Given the description of an element on the screen output the (x, y) to click on. 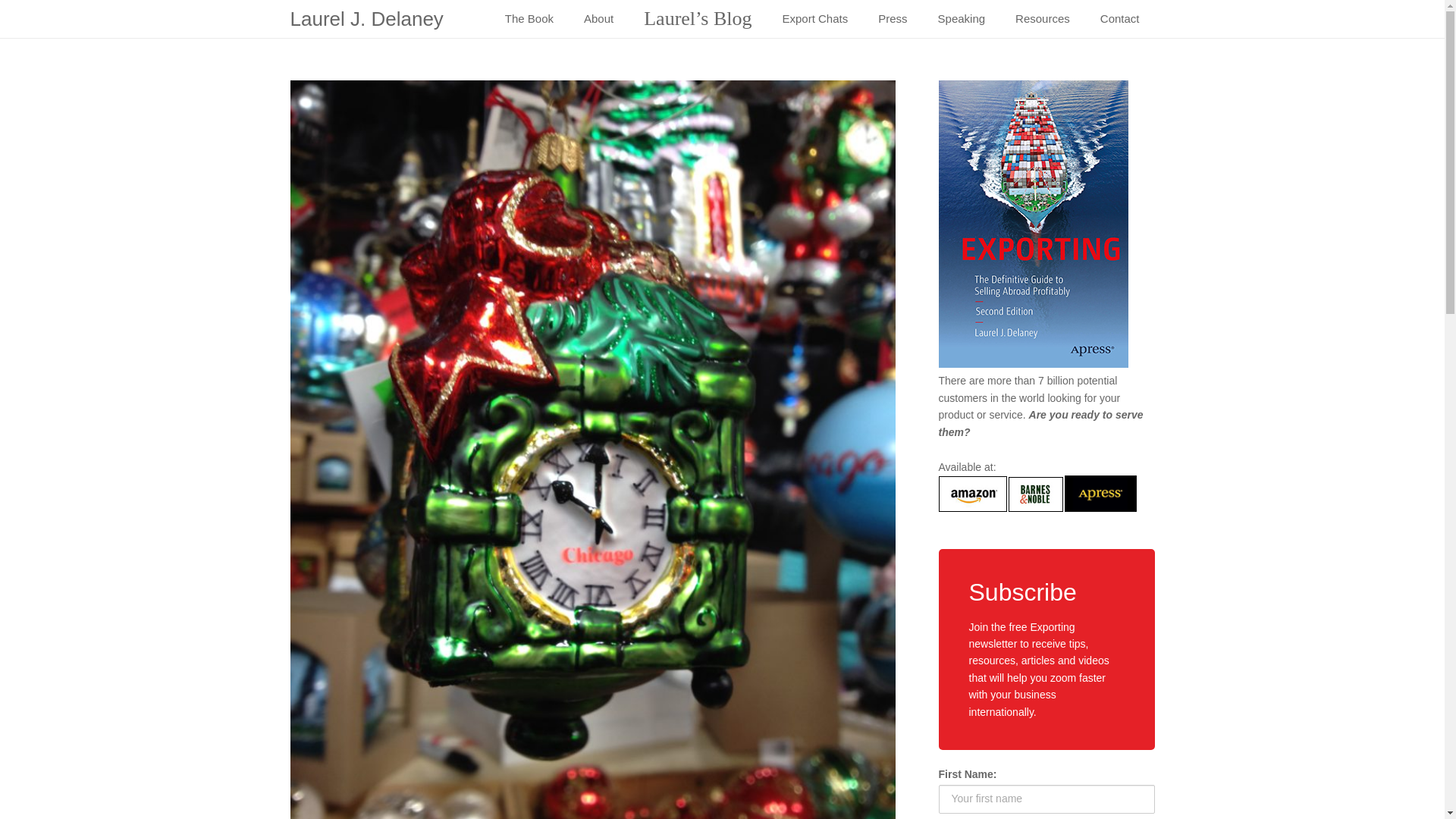
Laurel J. Delaney (365, 18)
Speaking (962, 18)
Press (892, 18)
Resources (1042, 18)
The Book (529, 18)
Buy on amazon (974, 508)
Contact (1119, 18)
About (598, 18)
Buy on Apress (1100, 508)
Export Chats (815, 18)
